Given the description of an element on the screen output the (x, y) to click on. 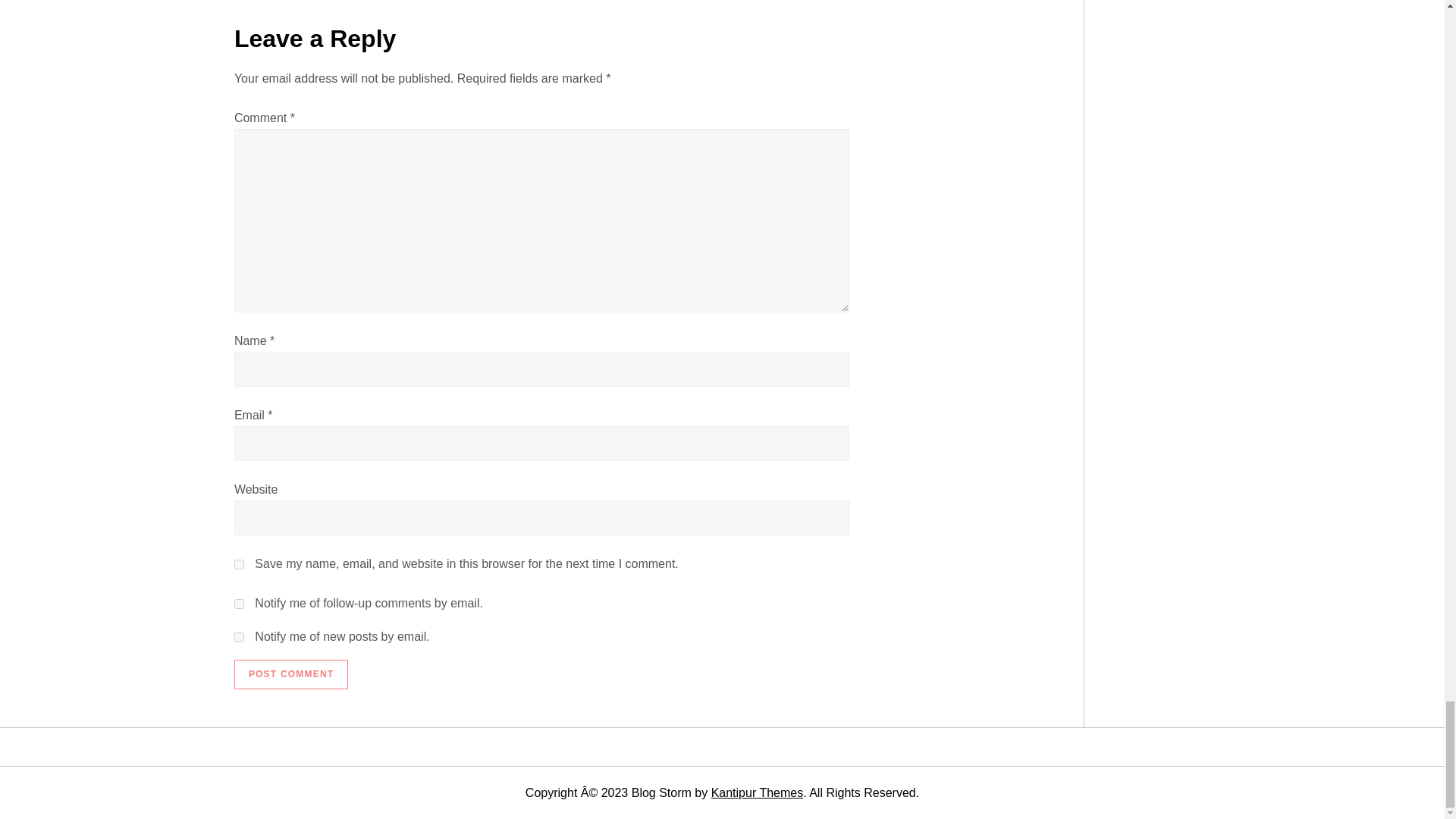
yes (239, 564)
subscribe (239, 603)
Post Comment (290, 675)
subscribe (239, 637)
